Given the description of an element on the screen output the (x, y) to click on. 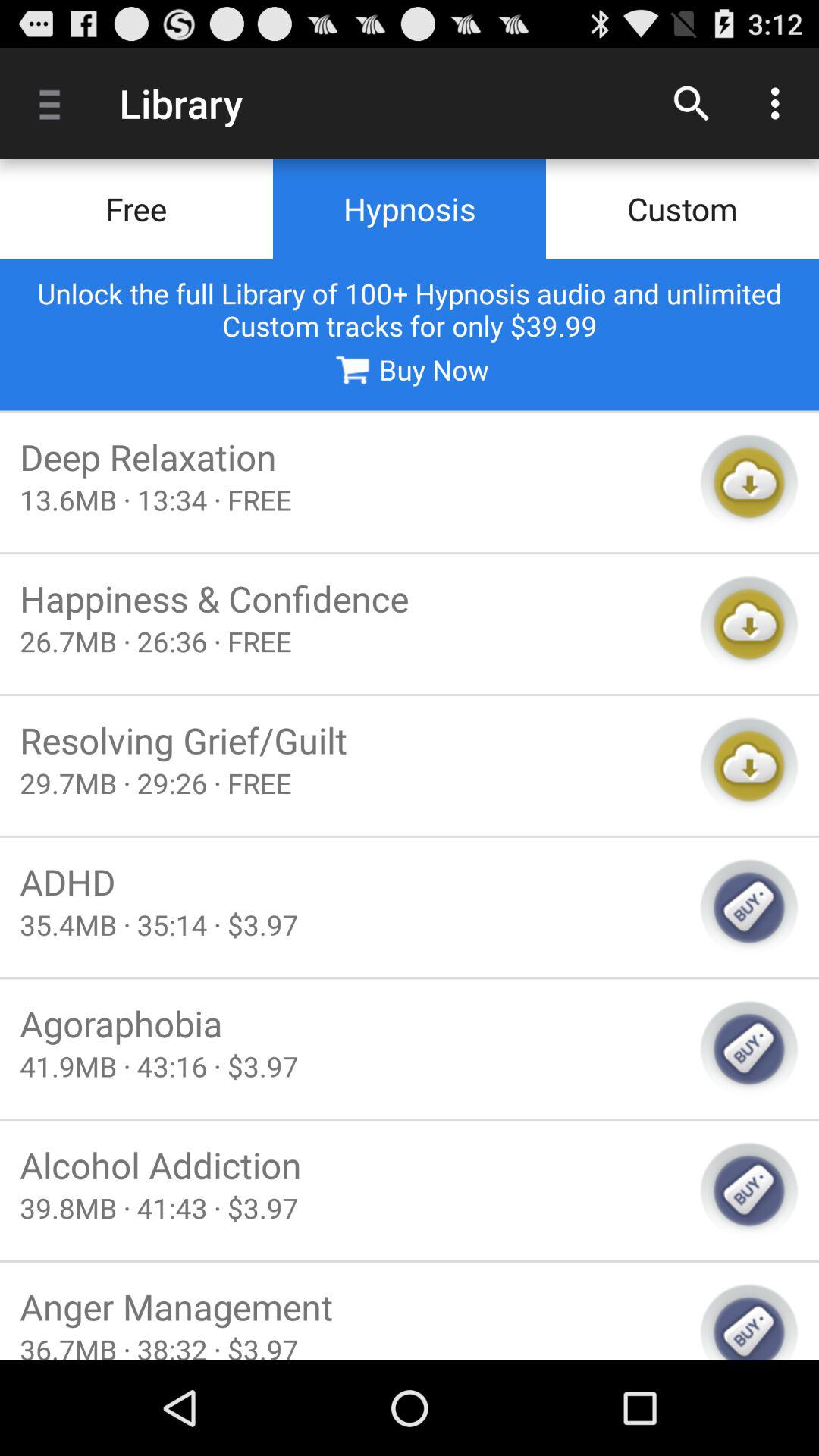
buy alcohol addiction audio (749, 1190)
